Given the description of an element on the screen output the (x, y) to click on. 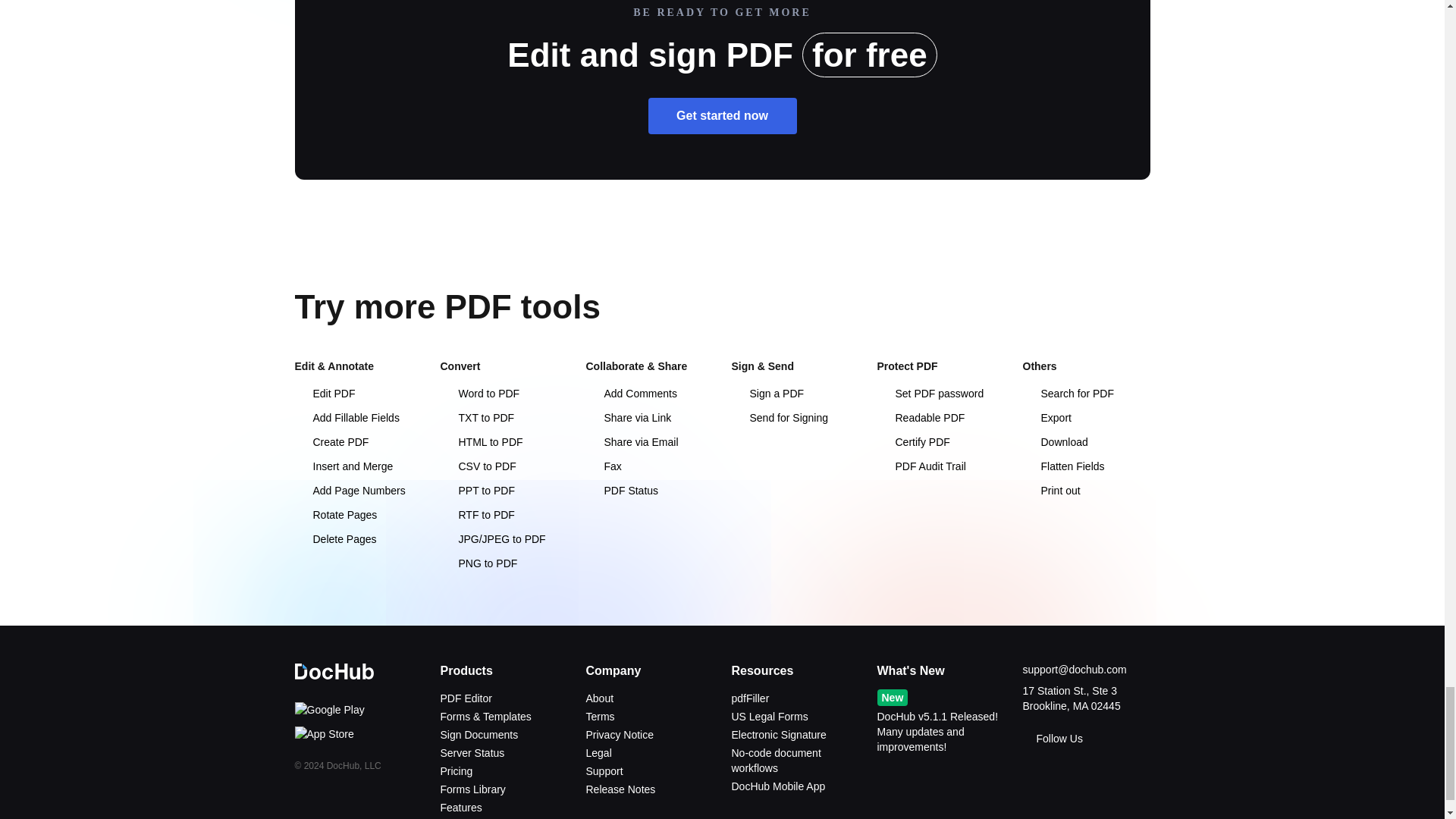
RTF to PDF (476, 514)
Create PDF (331, 441)
HTML to PDF (480, 441)
CSV to PDF (477, 466)
TXT to PDF (476, 417)
Add Page Numbers (349, 490)
Fax (603, 466)
Insert and Merge (343, 466)
Add Fillable Fields (346, 417)
Get started now (721, 115)
